Given the description of an element on the screen output the (x, y) to click on. 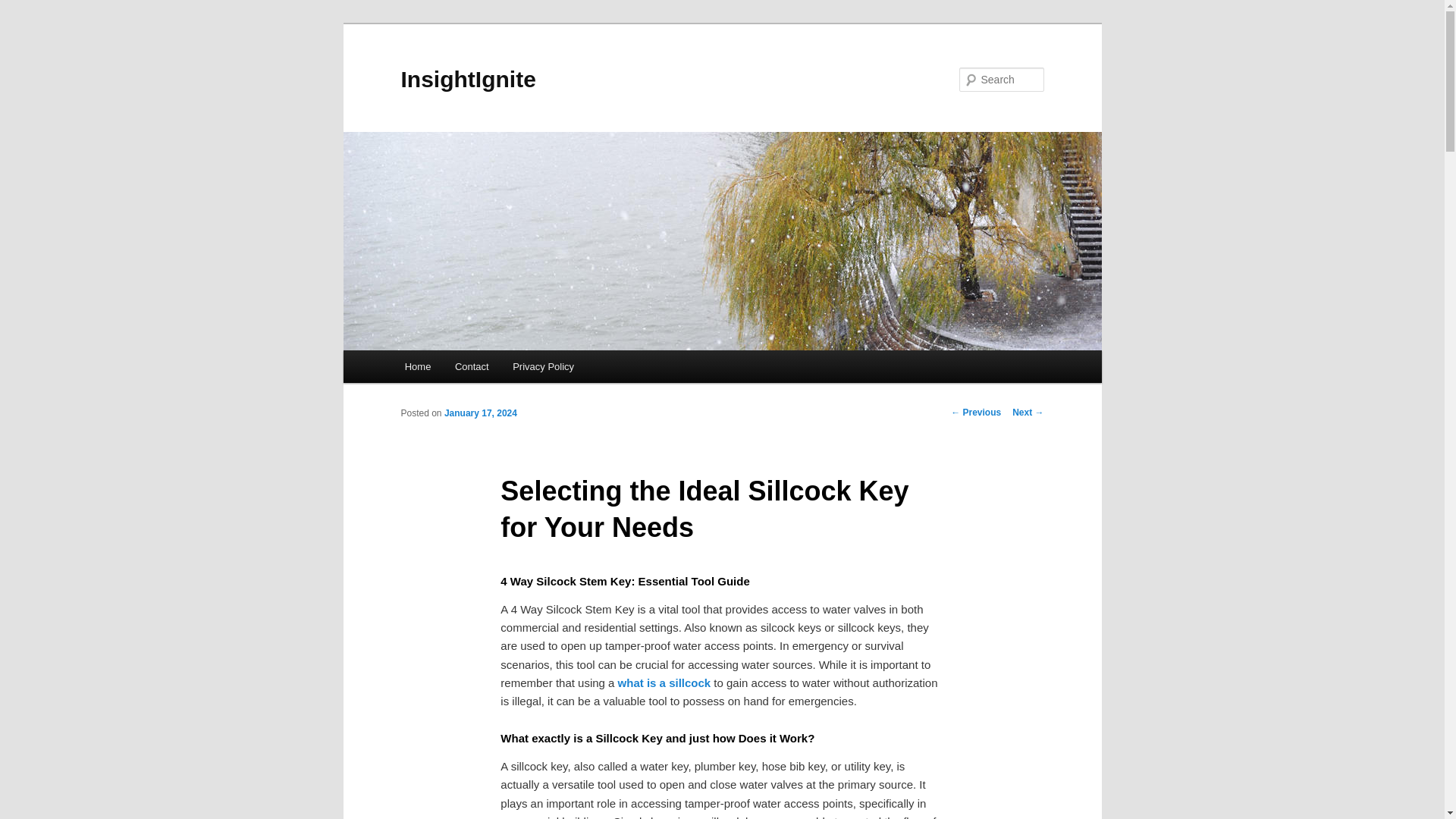
Home (417, 366)
Search (24, 8)
7:00 pm (480, 412)
Contact (471, 366)
InsightIgnite (467, 78)
Privacy Policy (542, 366)
January 17, 2024 (480, 412)
what is a sillcock (664, 682)
